Given the description of an element on the screen output the (x, y) to click on. 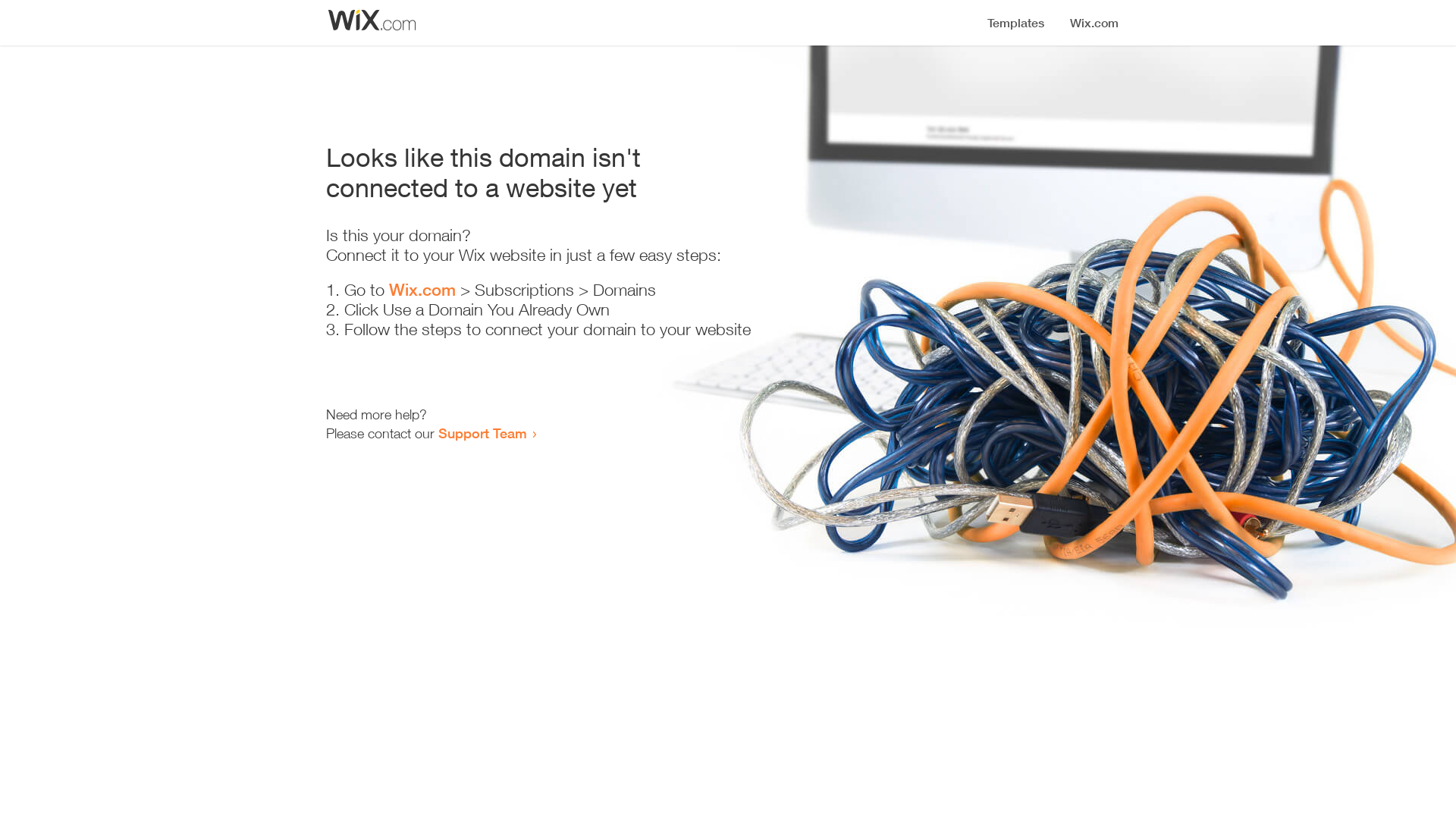
Wix.com Element type: text (422, 289)
Support Team Element type: text (482, 432)
